Given the description of an element on the screen output the (x, y) to click on. 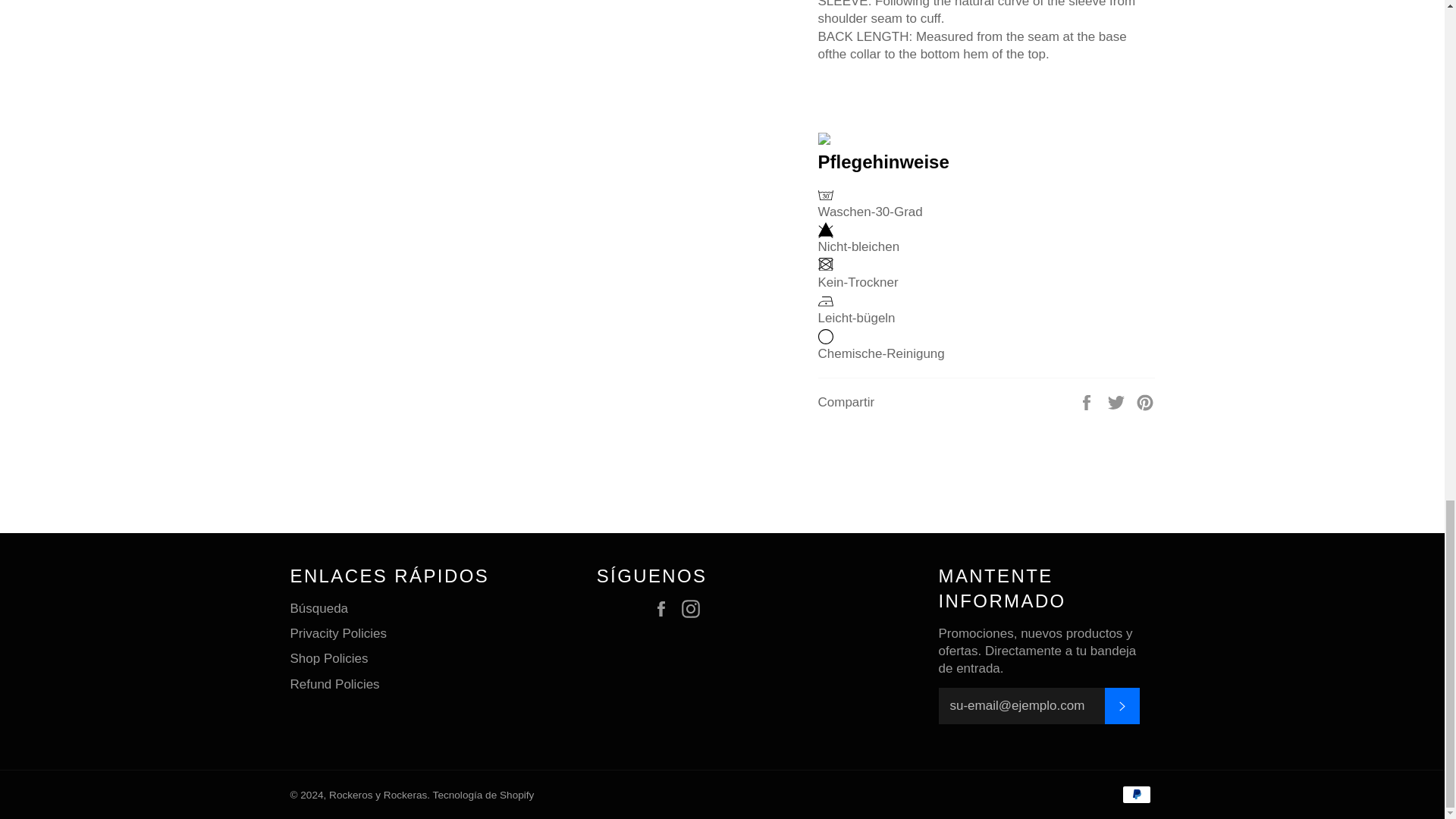
Tuitear en Twitter (1117, 401)
Compartir en Facebook (1088, 401)
Rockeros y Rockeras en Instagram (693, 609)
Pinear en Pinterest (1144, 401)
Rockeros y Rockeras en Facebook (665, 609)
